Given the description of an element on the screen output the (x, y) to click on. 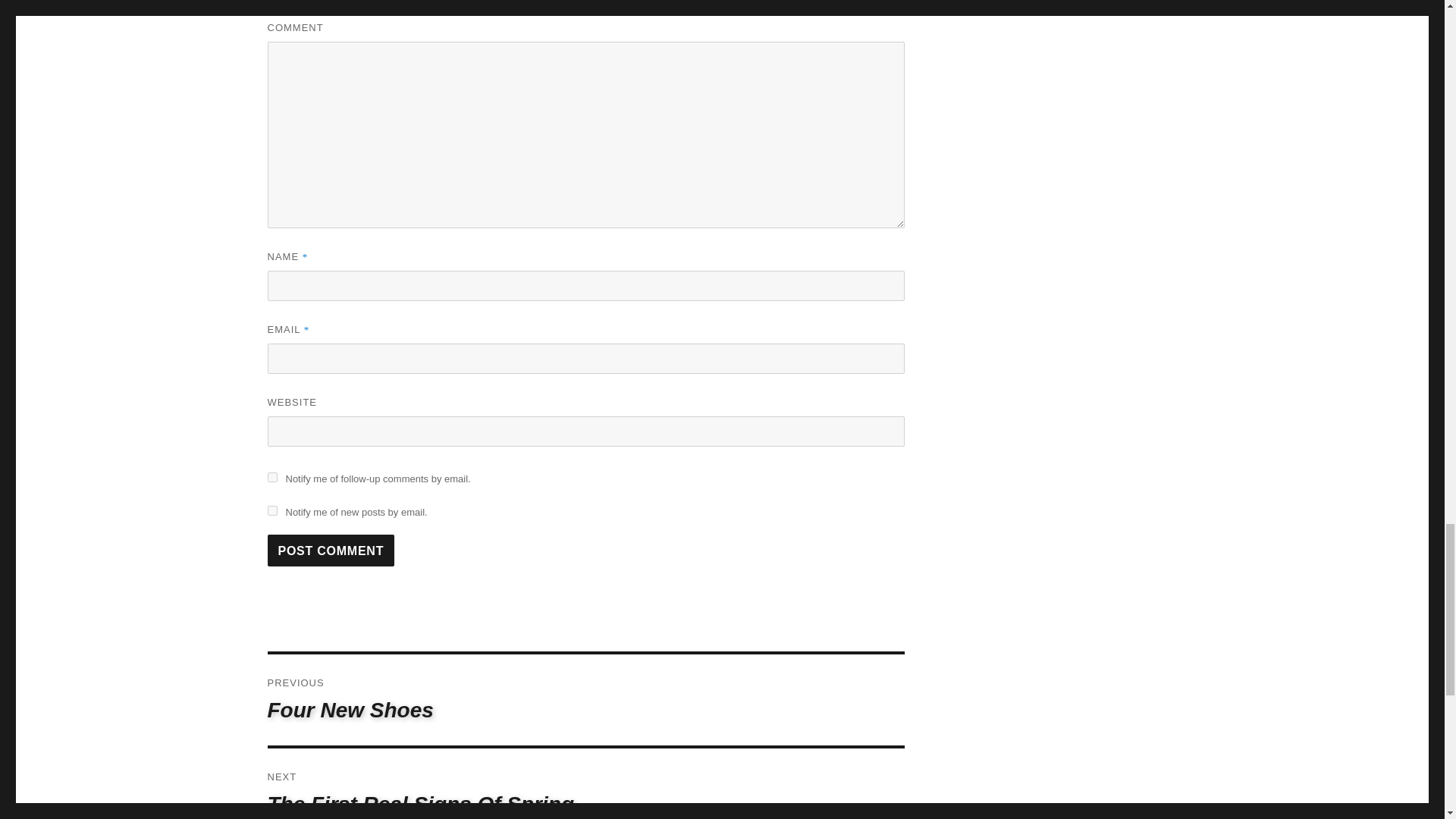
subscribe (271, 477)
Post Comment (585, 783)
Post Comment (330, 550)
subscribe (330, 550)
